Given the description of an element on the screen output the (x, y) to click on. 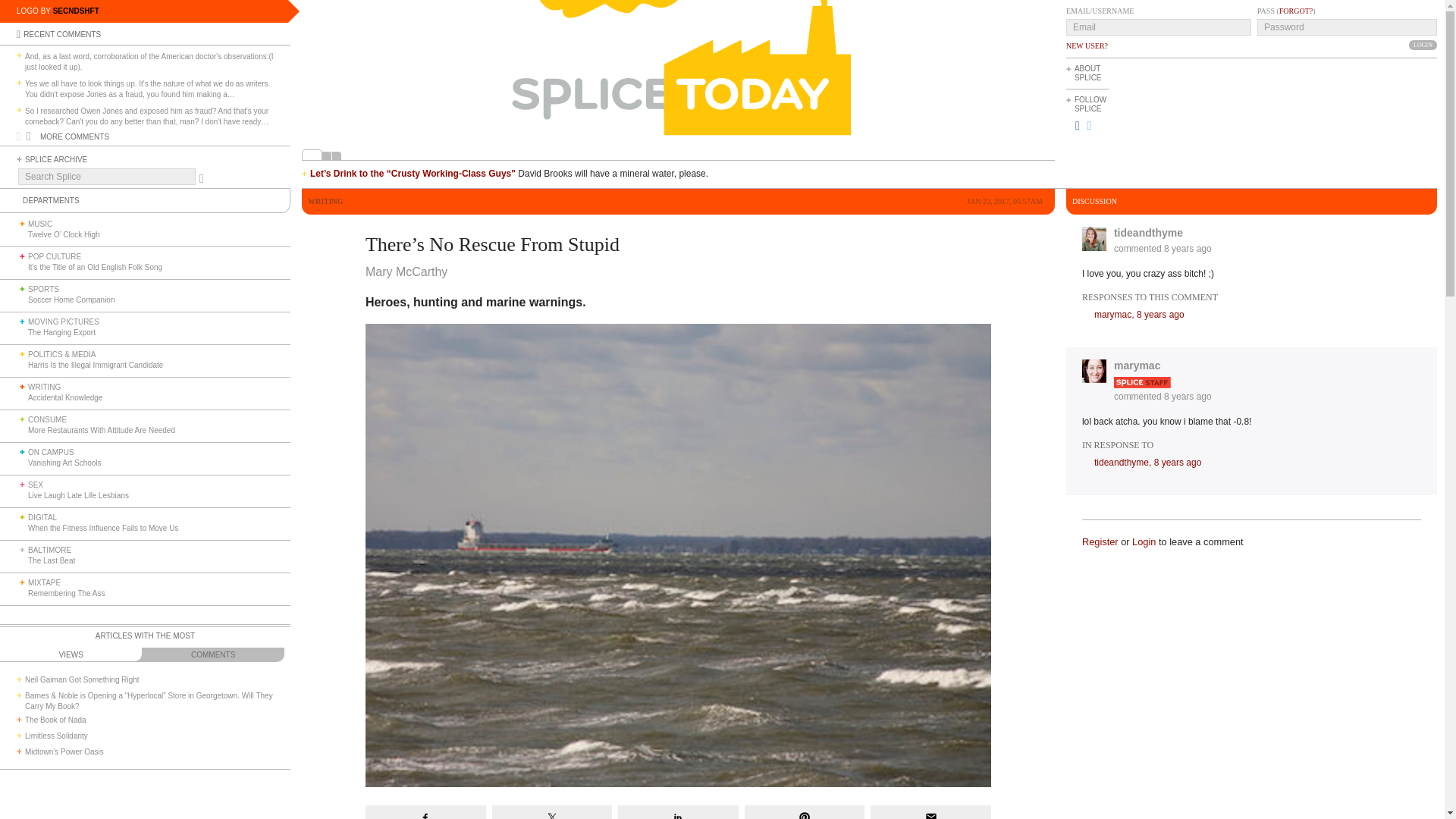
NEW USER? (1086, 45)
More Restaurants With Attitude Are Needed  (102, 429)
The Hanging Export (61, 332)
Login (1423, 44)
ON CAMPUS (50, 451)
Accidental Knowledge (64, 397)
CONSUME (46, 419)
Soccer Home Companion (71, 299)
SEX (35, 484)
FORGOT? (1296, 10)
Harris Is the Illegal Immigrant Candidate (95, 365)
Login (1423, 44)
RECENT COMMENTS (61, 34)
ABOUT SPLICE (1088, 72)
MORE COMMENTS (74, 136)
